Given the description of an element on the screen output the (x, y) to click on. 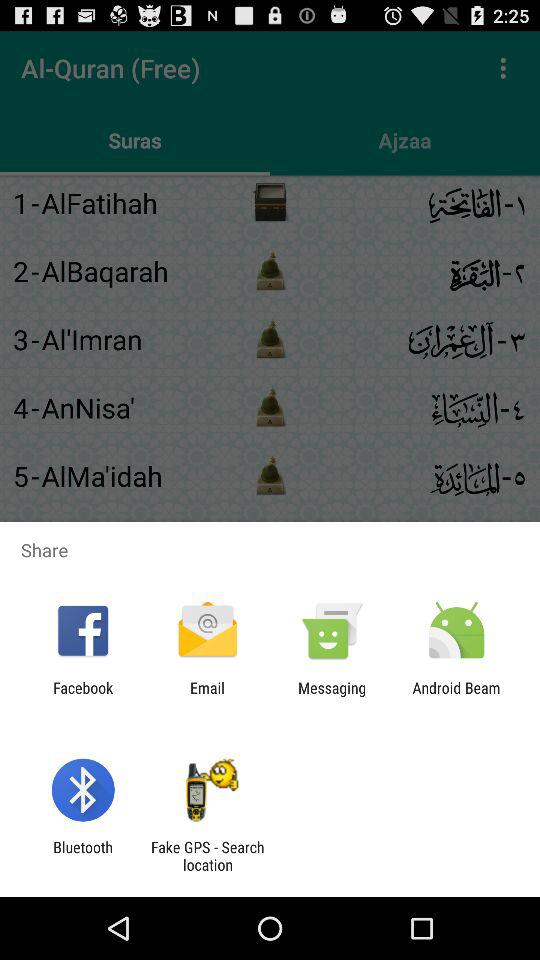
press item next to facebook app (207, 696)
